Given the description of an element on the screen output the (x, y) to click on. 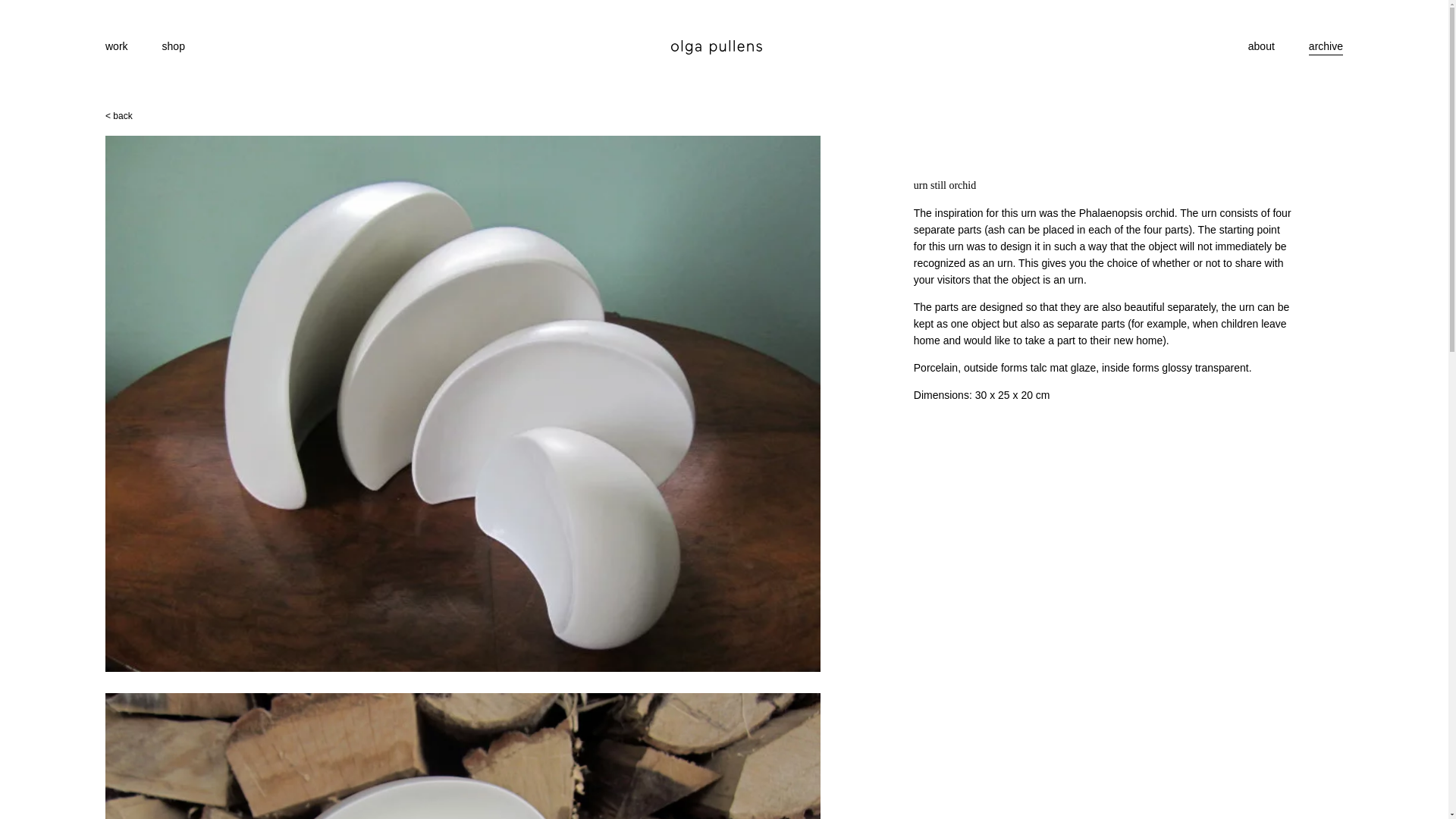
Archive (1325, 45)
archive (1325, 45)
Work (116, 45)
About (1261, 45)
shop (172, 45)
about (1261, 45)
Shop (172, 45)
work (116, 45)
